Given the description of an element on the screen output the (x, y) to click on. 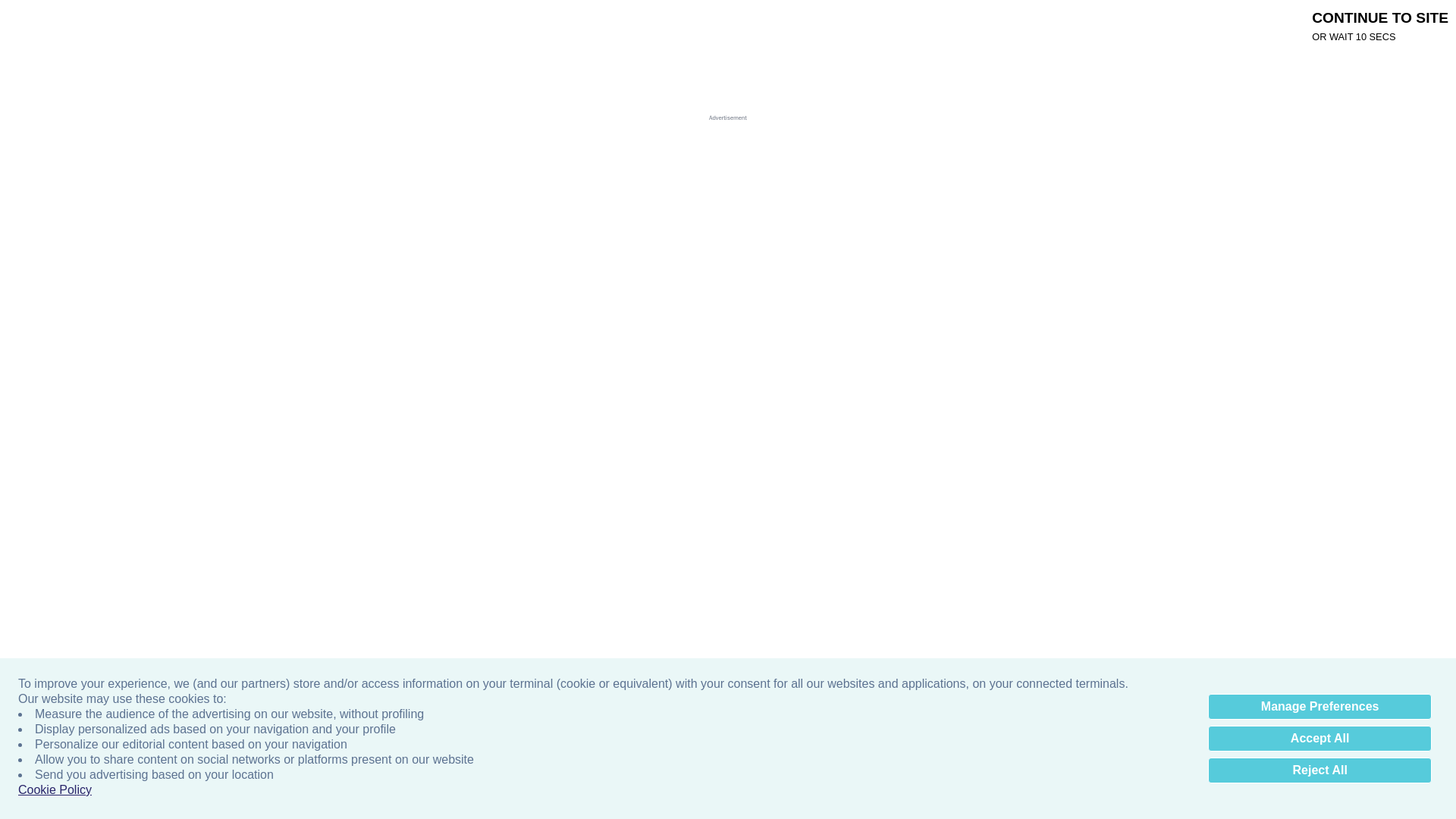
Reject All (1319, 769)
Accept All (1319, 738)
3rd party ad content (1109, 306)
Columns (474, 23)
3rd party ad content (715, 131)
i4-688619-1408640577273.jpg (317, 801)
3rd party ad content (604, 427)
Manage Preferences (1319, 706)
News (530, 23)
Cookie Policy (54, 789)
App Notes (591, 23)
Conferences (666, 23)
Publications (404, 23)
